Given the description of an element on the screen output the (x, y) to click on. 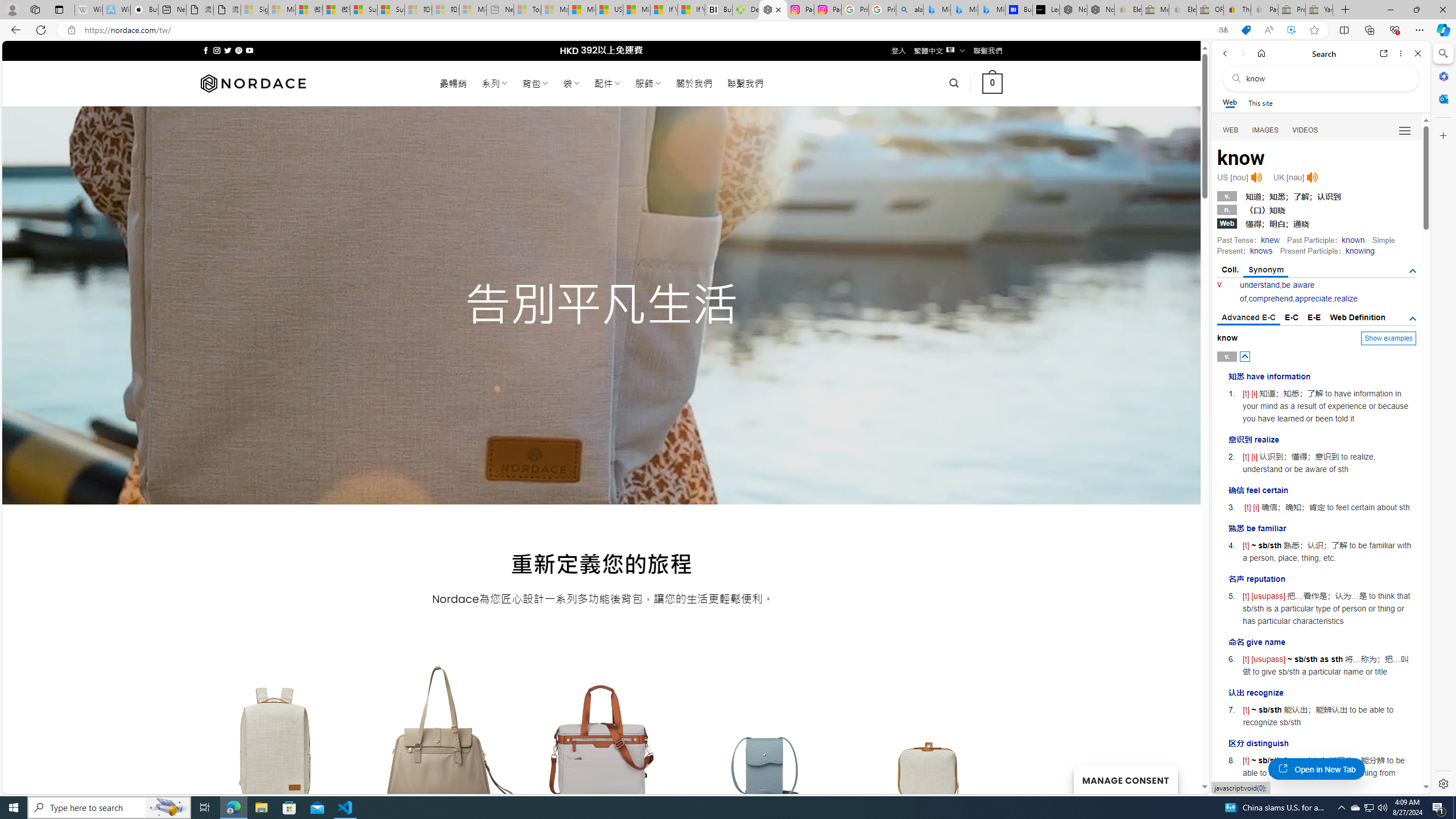
Follow on Twitter (227, 50)
  0   (992, 83)
be aware of (1277, 291)
Coll. (1230, 269)
AutomationID: tgdef (1412, 318)
